Given the description of an element on the screen output the (x, y) to click on. 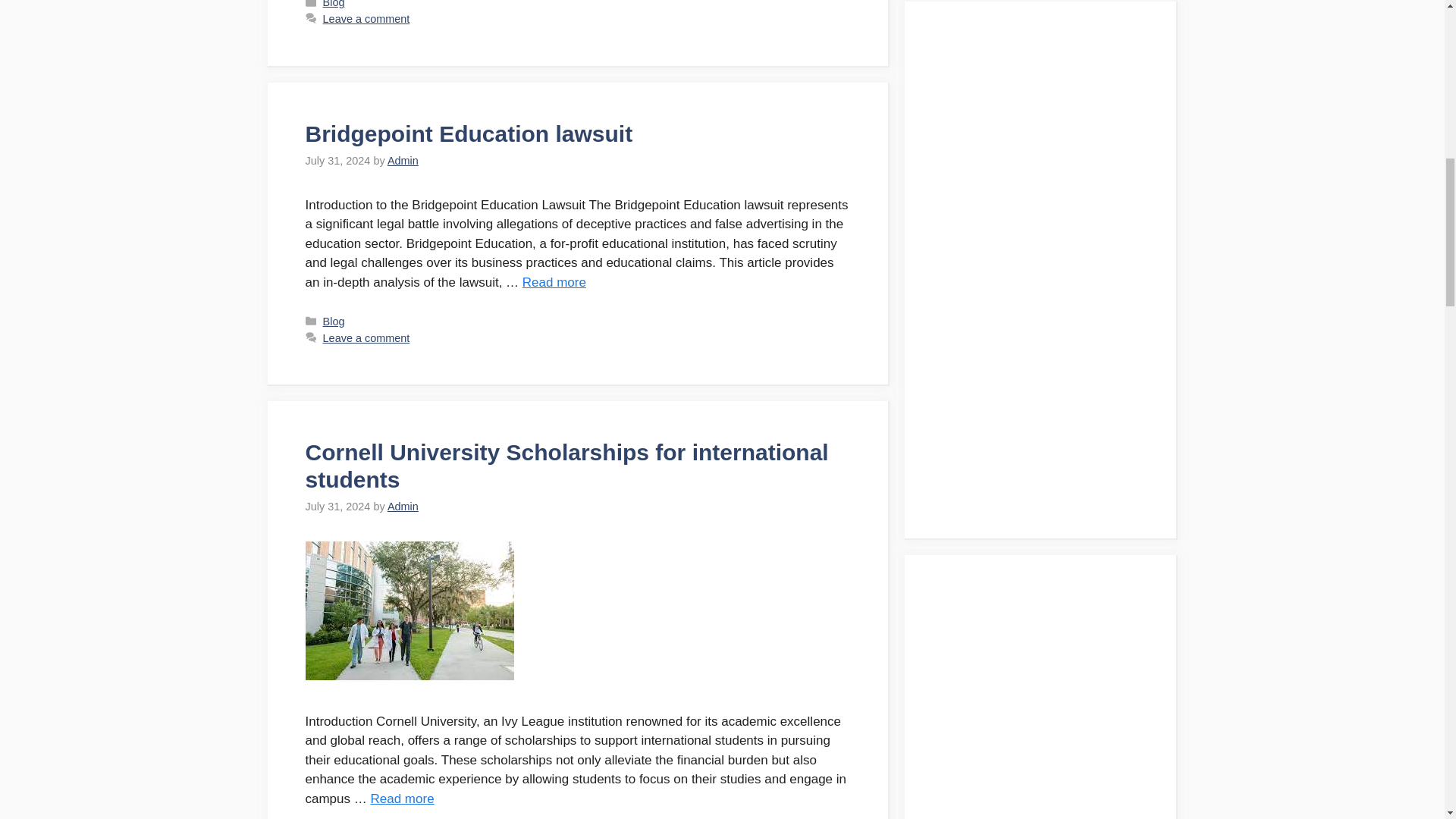
Read more (554, 282)
Blog (334, 321)
Cornell University Scholarships for international students (401, 798)
Blog (334, 4)
Admin (403, 506)
Cornell University Scholarships for international students (566, 465)
Leave a comment (366, 337)
Admin (403, 160)
View all posts by Admin (403, 160)
Read more (401, 798)
Bridgepoint Education lawsuit (467, 133)
View all posts by Admin (403, 506)
Leave a comment (366, 19)
